Given the description of an element on the screen output the (x, y) to click on. 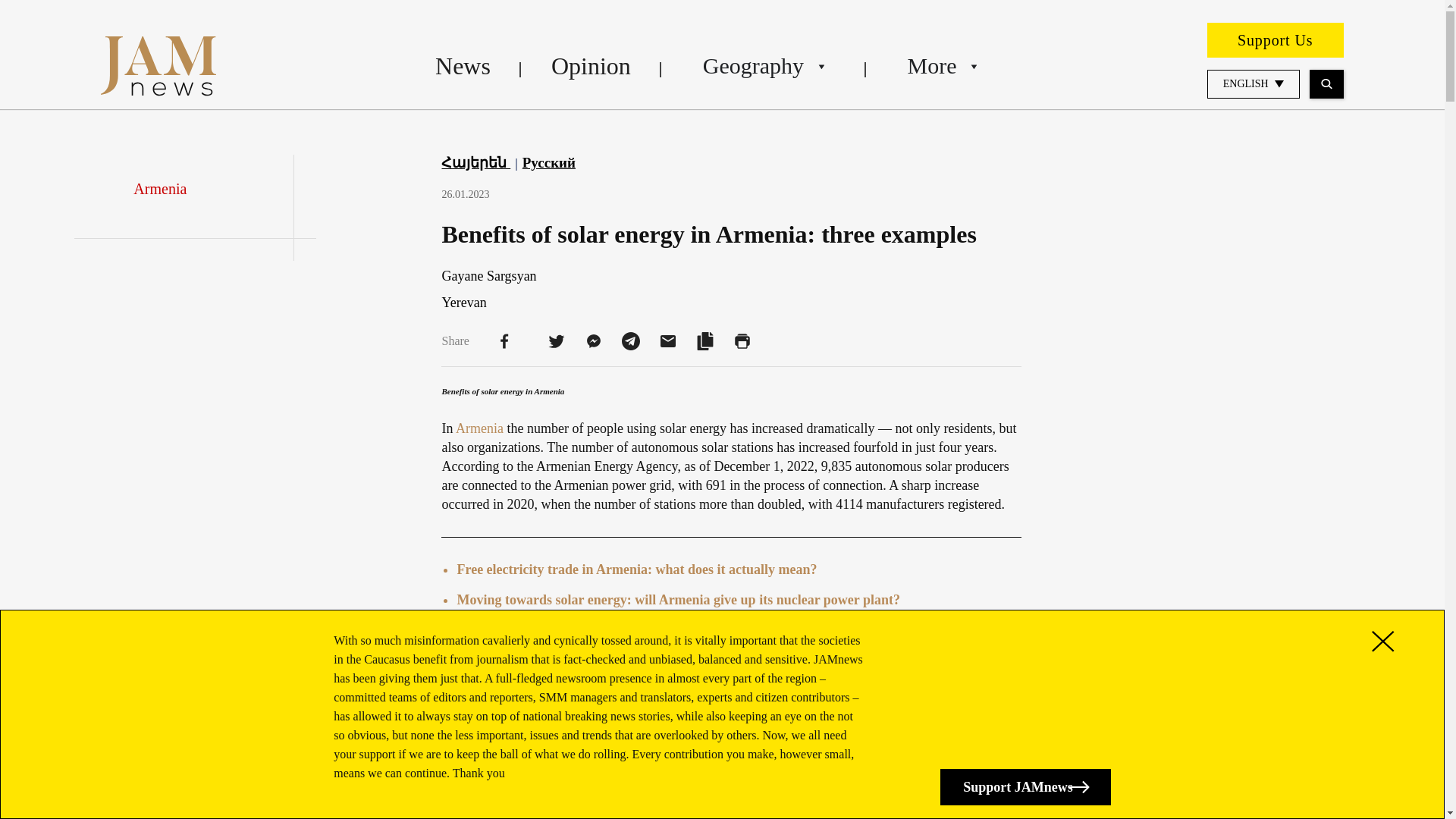
Opinion (591, 65)
More (942, 65)
Support Us (1275, 39)
News (462, 65)
Geography (763, 65)
